Given the description of an element on the screen output the (x, y) to click on. 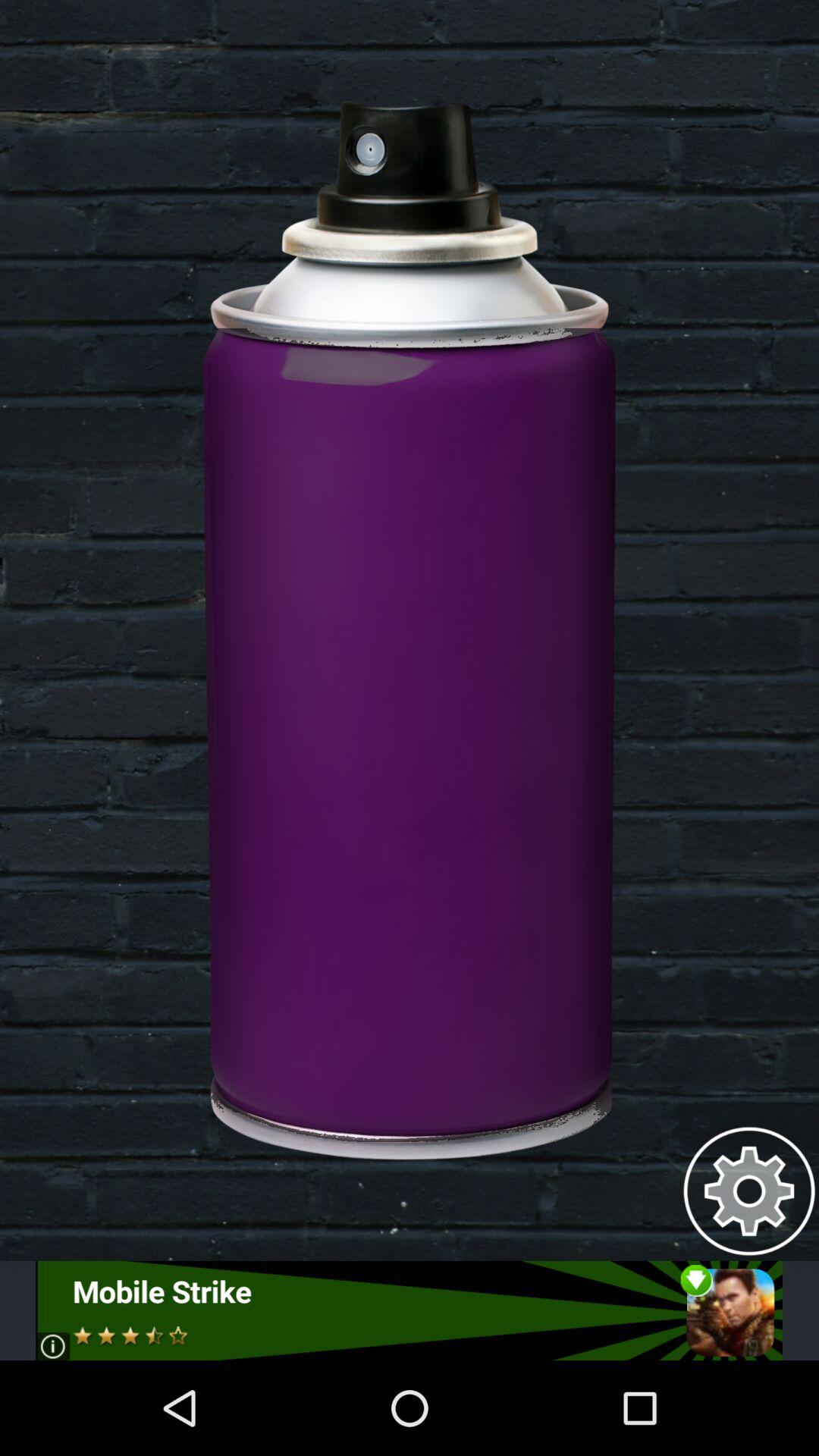
enter settings (749, 1190)
